Given the description of an element on the screen output the (x, y) to click on. 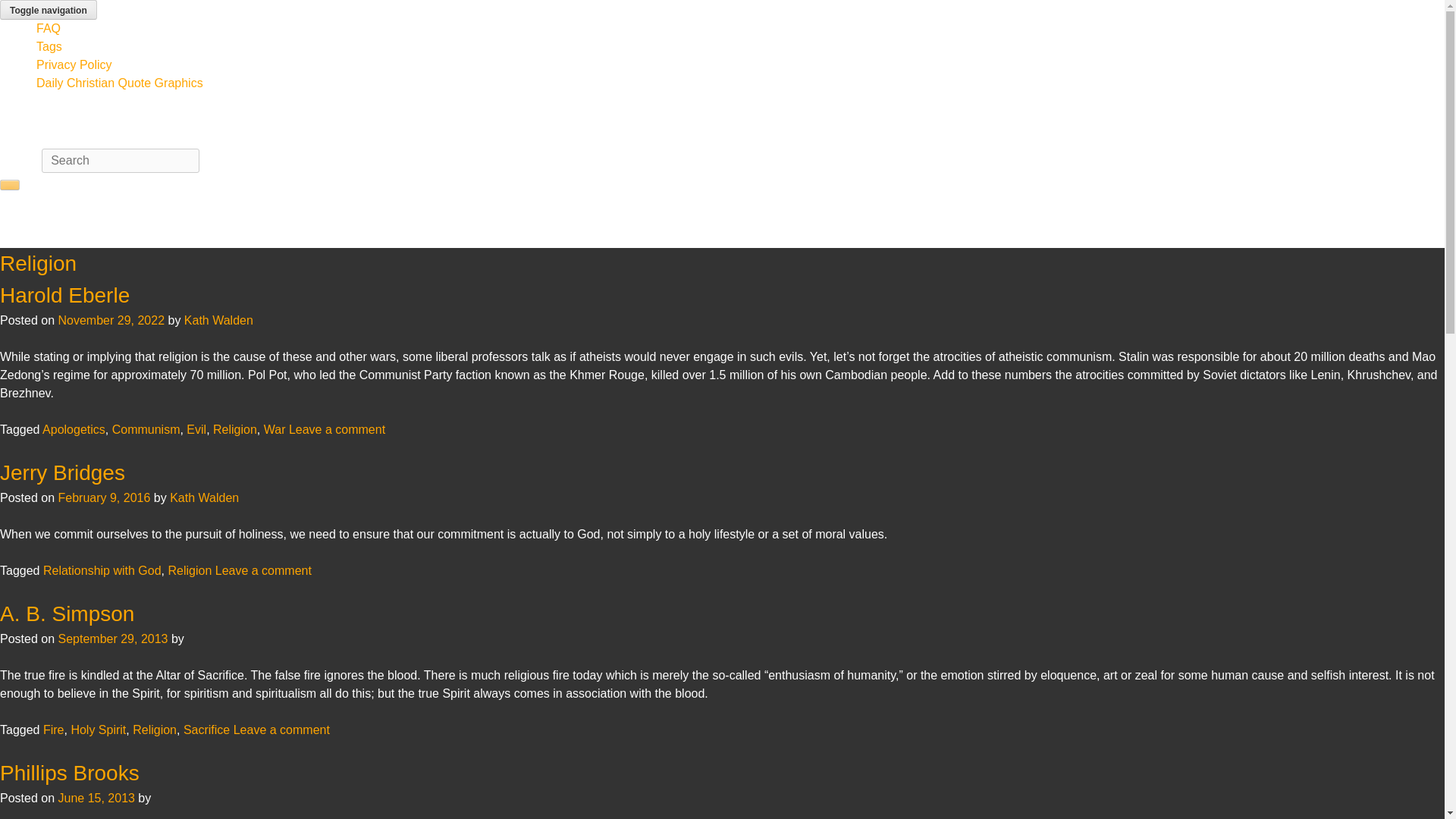
Religion (189, 570)
Leave a comment (281, 729)
Religion (234, 429)
Sacrifice (206, 729)
Fire (53, 729)
Jerry Bridges (62, 472)
Daily Christian Quotes (160, 9)
September 29, 2013 (112, 638)
November 29, 2022 (111, 319)
Communism (146, 429)
